Given the description of an element on the screen output the (x, y) to click on. 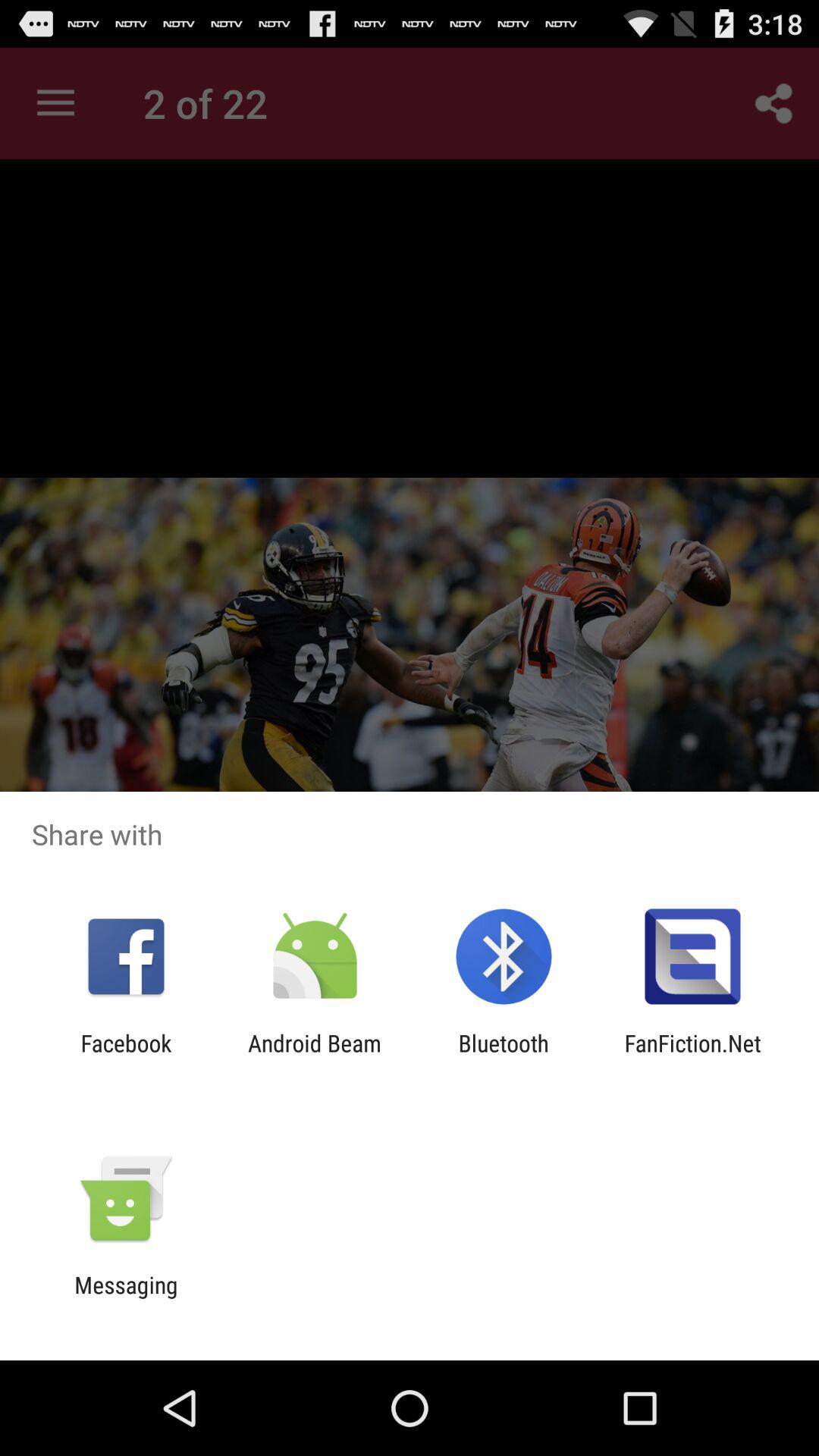
launch the facebook app (125, 1056)
